Given the description of an element on the screen output the (x, y) to click on. 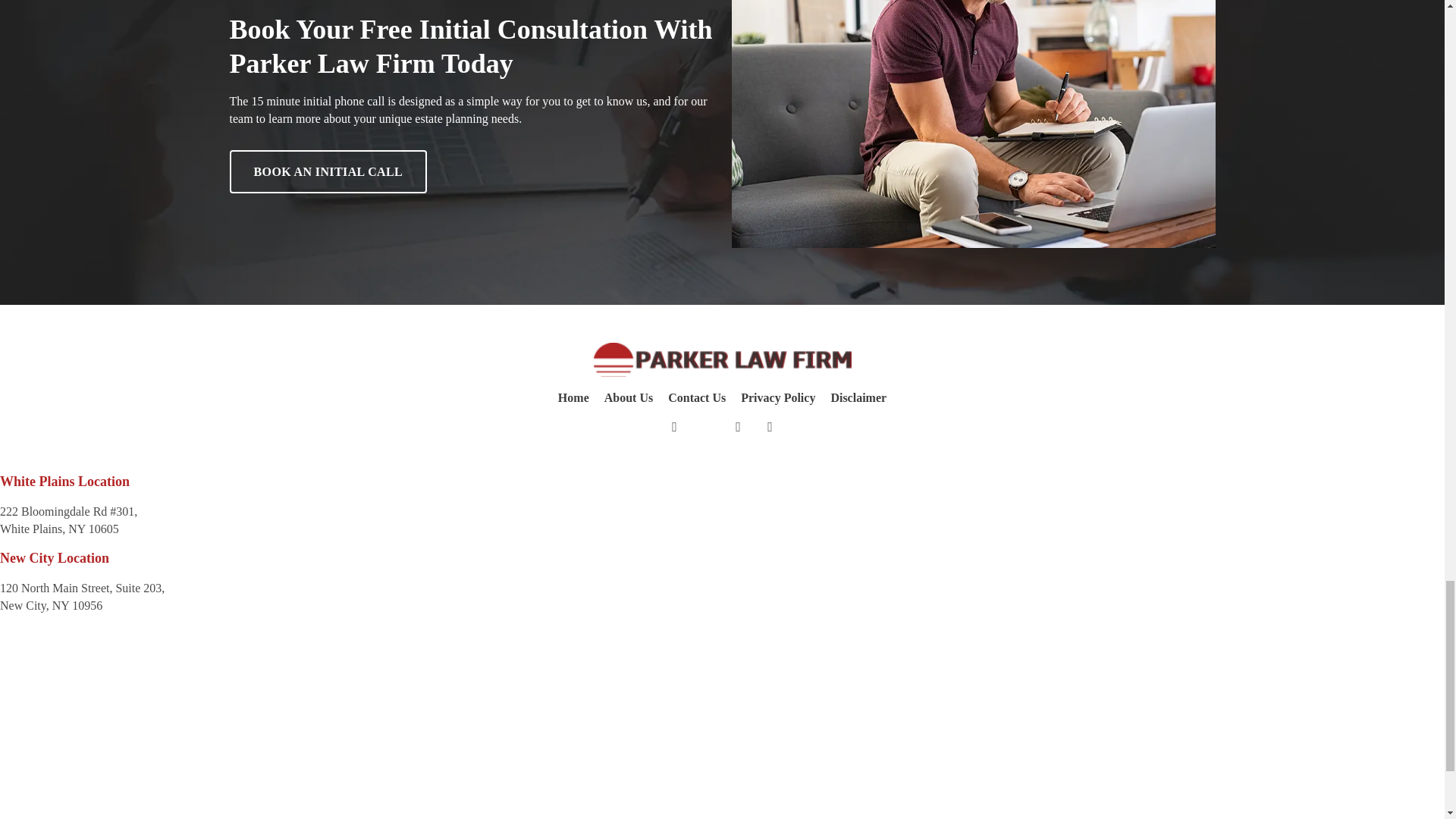
Parker Law Firm (721, 359)
Book An Initial Call (327, 171)
Book A Call With Parker Law Firm (973, 124)
